Given the description of an element on the screen output the (x, y) to click on. 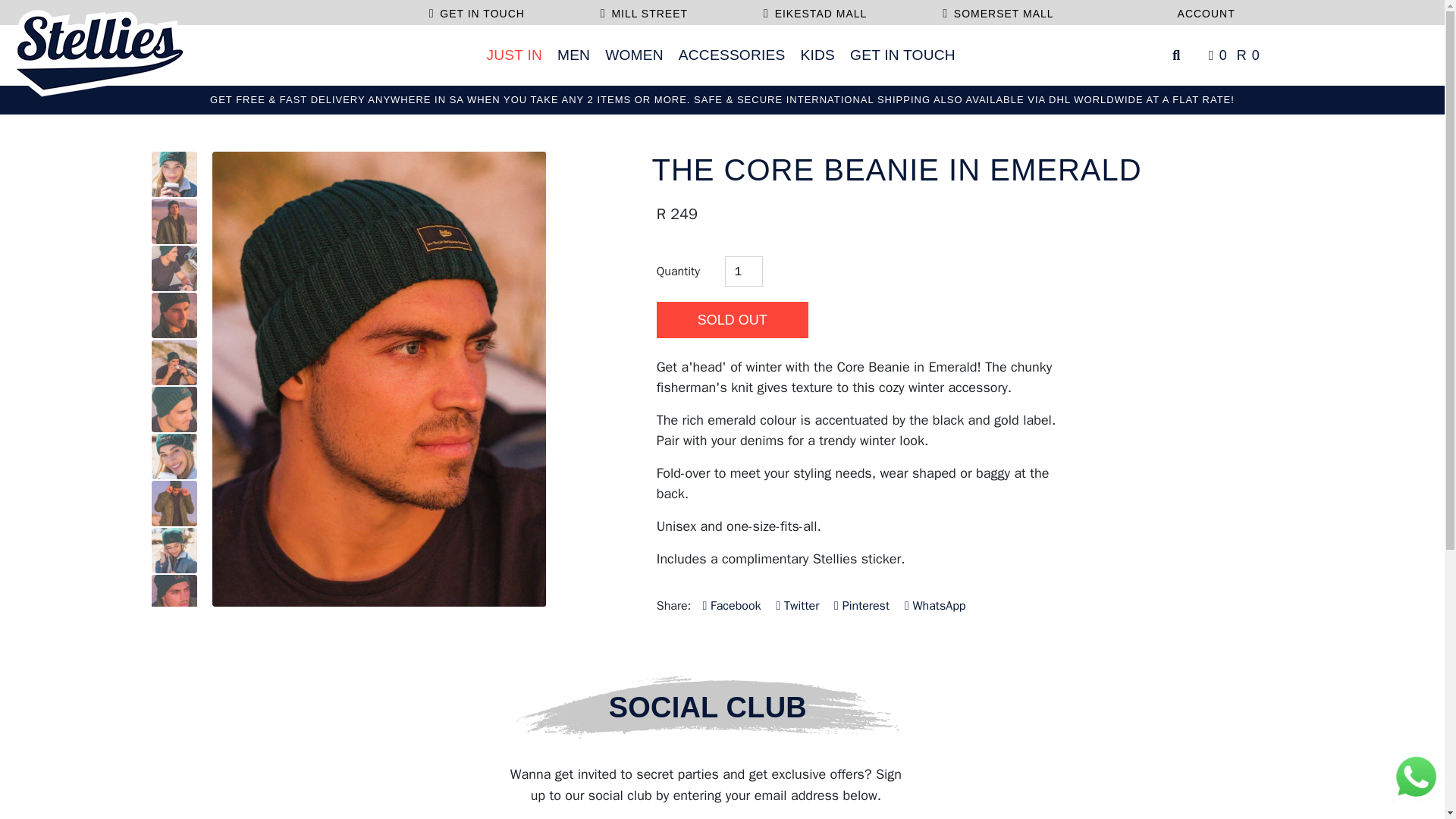
Click or tap to get in touch (814, 10)
Click to register or login (1203, 10)
Share on Pinterest (861, 606)
  0  R 0 (1232, 54)
Click or tap to get in touch (476, 10)
GET IN TOUCH (476, 10)
ACCESSORIES (732, 54)
Share on Facebook (730, 606)
GET IN TOUCH (902, 54)
Click or tap to get in touch (643, 10)
ACCOUNT (1203, 10)
1 (743, 271)
SOMERSET MALL (997, 10)
Sold Out (732, 320)
JUST IN (513, 54)
